Given the description of an element on the screen output the (x, y) to click on. 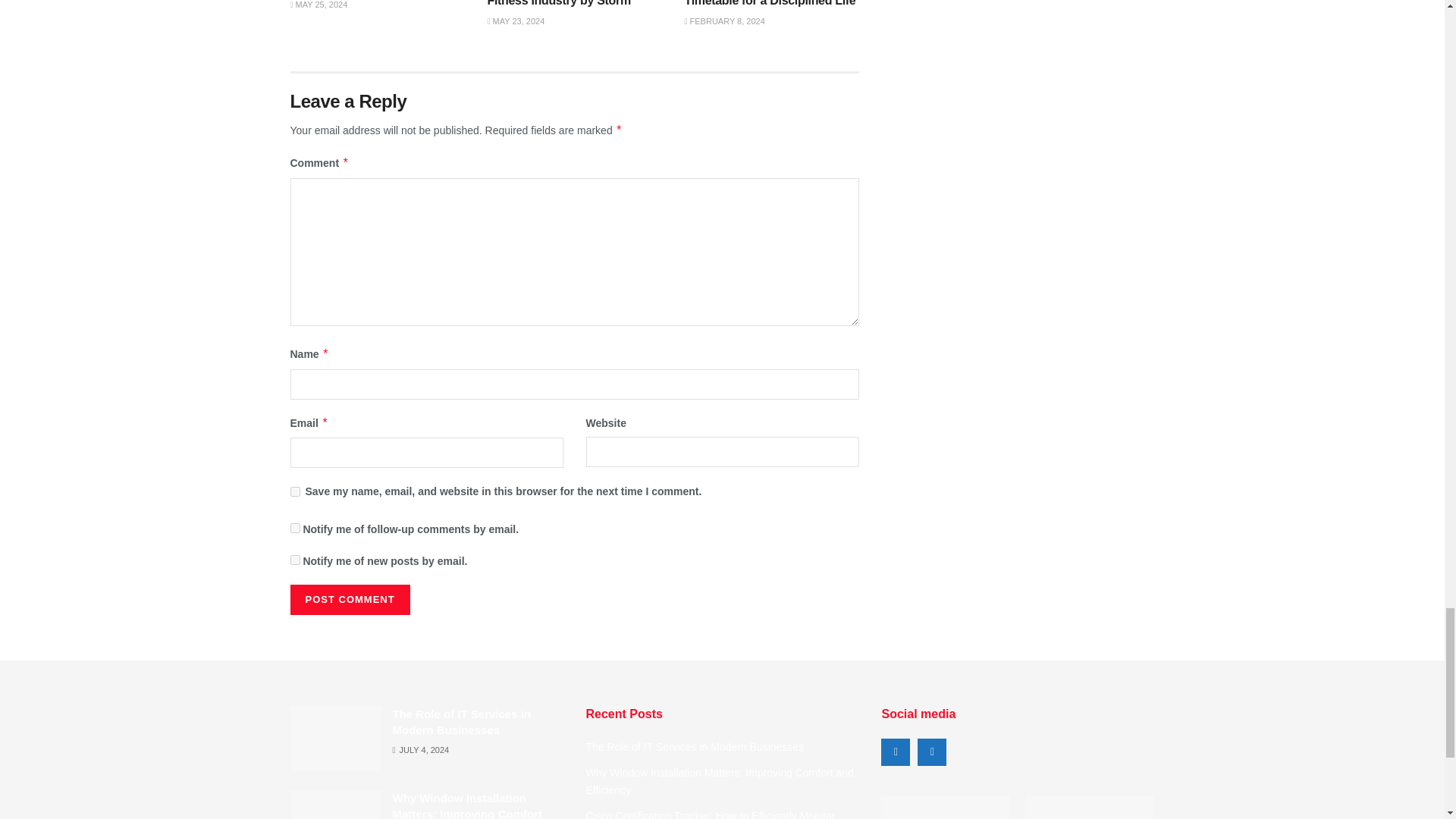
yes (294, 491)
subscribe (294, 560)
Post Comment (349, 599)
subscribe (294, 528)
